Given the description of an element on the screen output the (x, y) to click on. 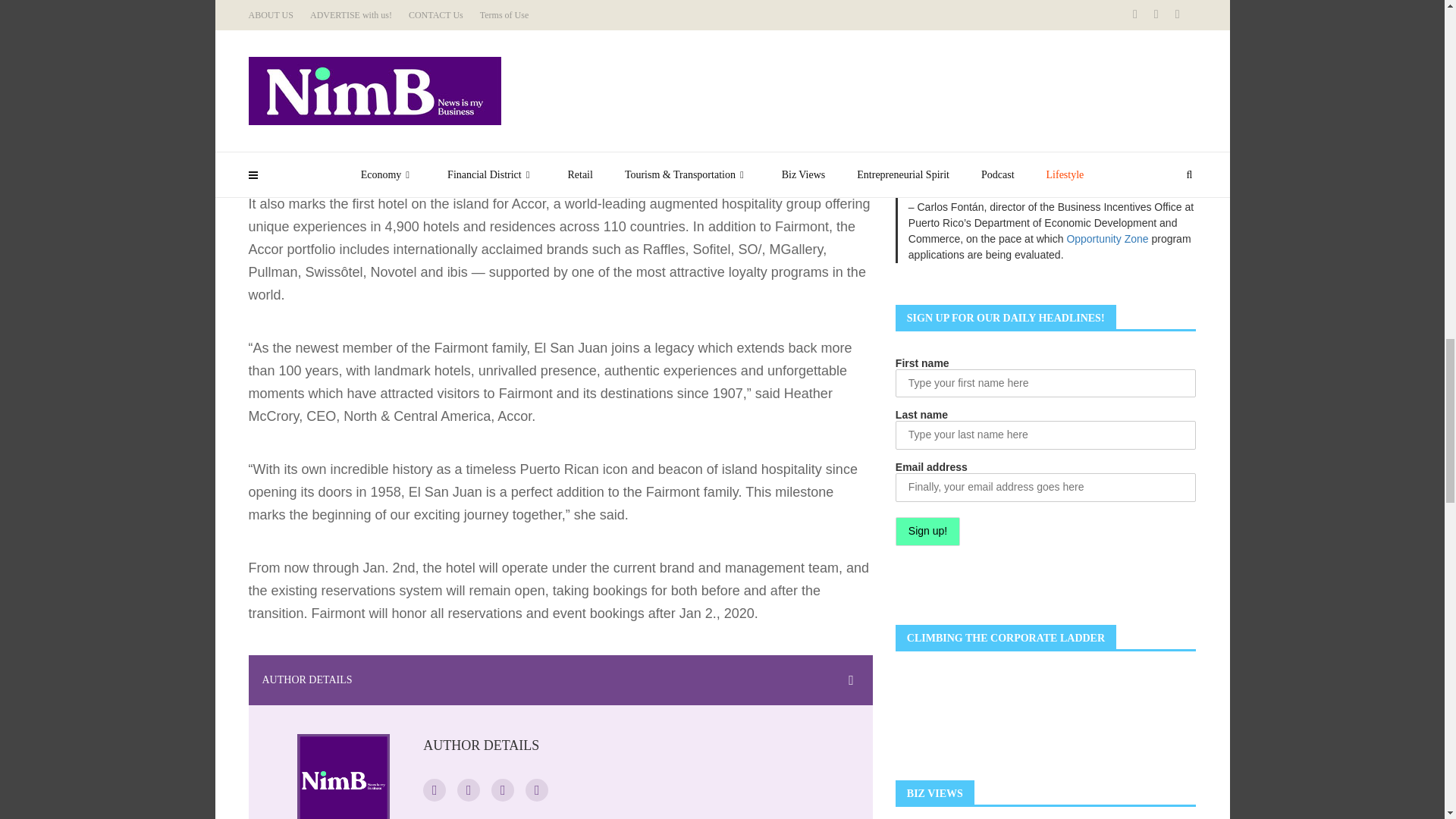
Sign up! (927, 531)
